Given the description of an element on the screen output the (x, y) to click on. 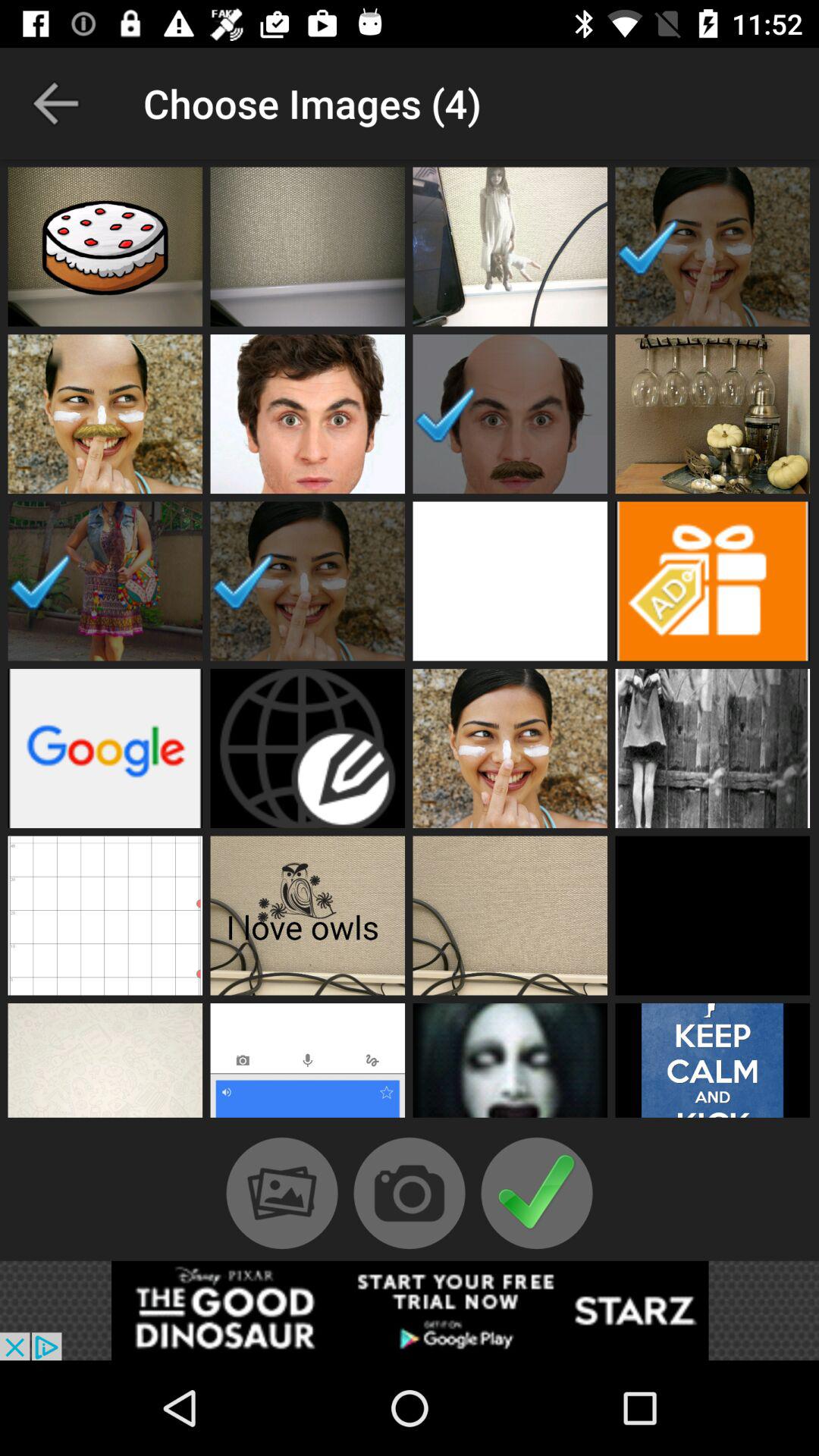
return to previous (55, 103)
